Given the description of an element on the screen output the (x, y) to click on. 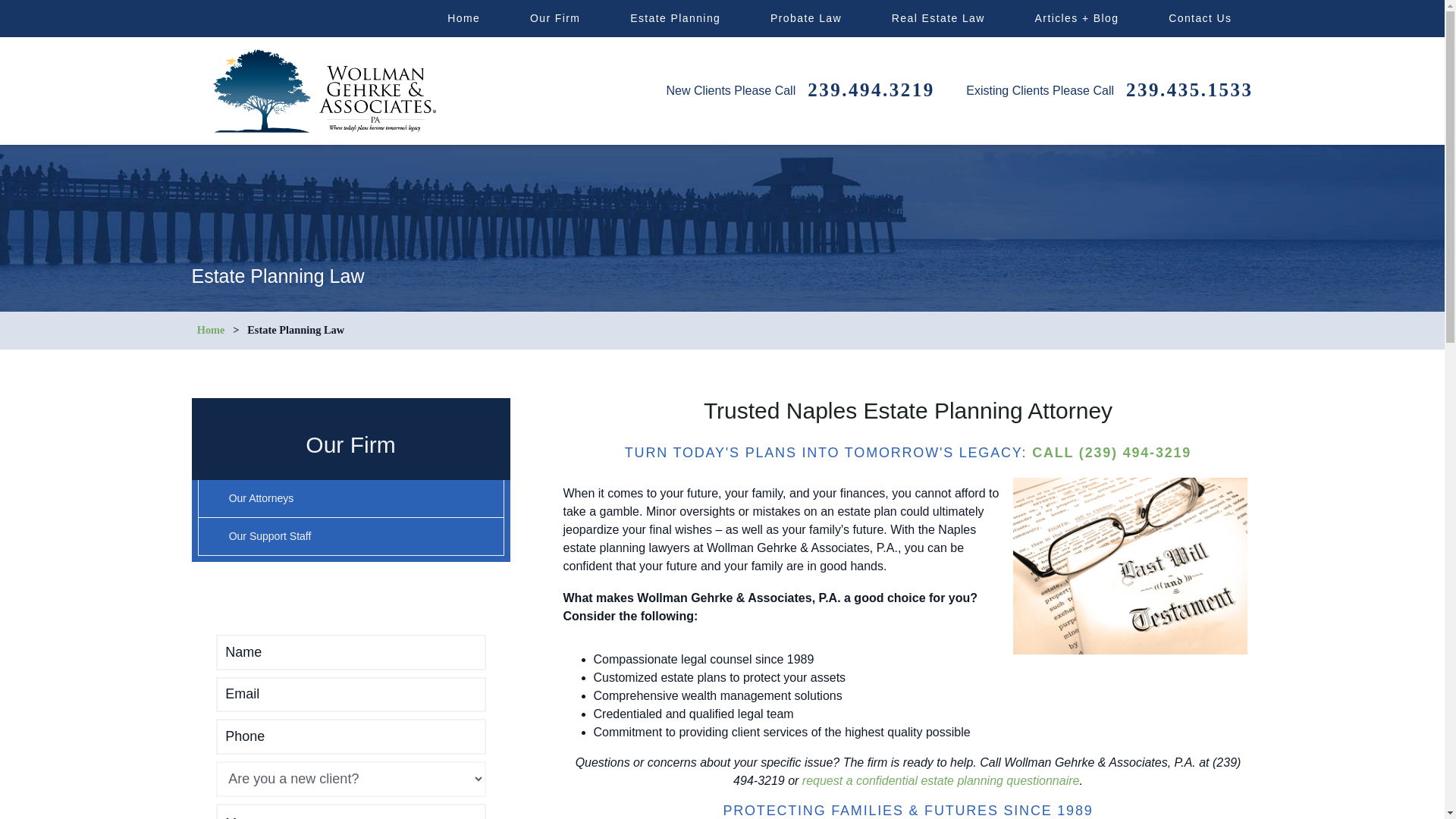
Home (463, 18)
Contact Us (1199, 18)
Estate Planning (675, 18)
Probate Law (805, 18)
Real Estate Law (938, 18)
Our Firm (555, 18)
